Given the description of an element on the screen output the (x, y) to click on. 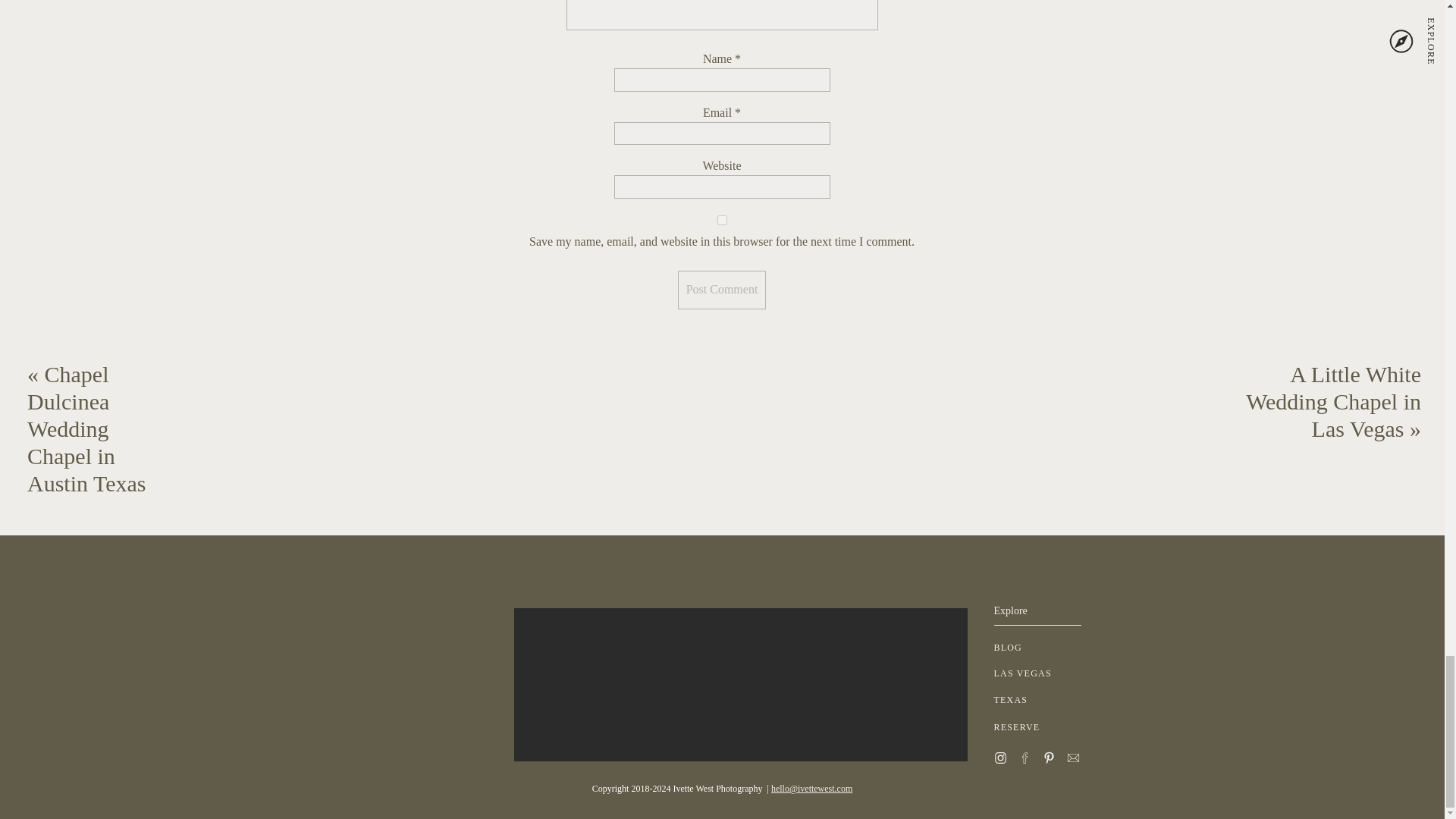
LAS VEGAS (1040, 673)
yes (721, 220)
Post Comment (722, 290)
RESERVE (1040, 727)
BLOG (1040, 647)
Post Comment (722, 290)
A Little White Wedding Chapel in Las Vegas (1333, 401)
TEXAS (1040, 700)
